Given the description of an element on the screen output the (x, y) to click on. 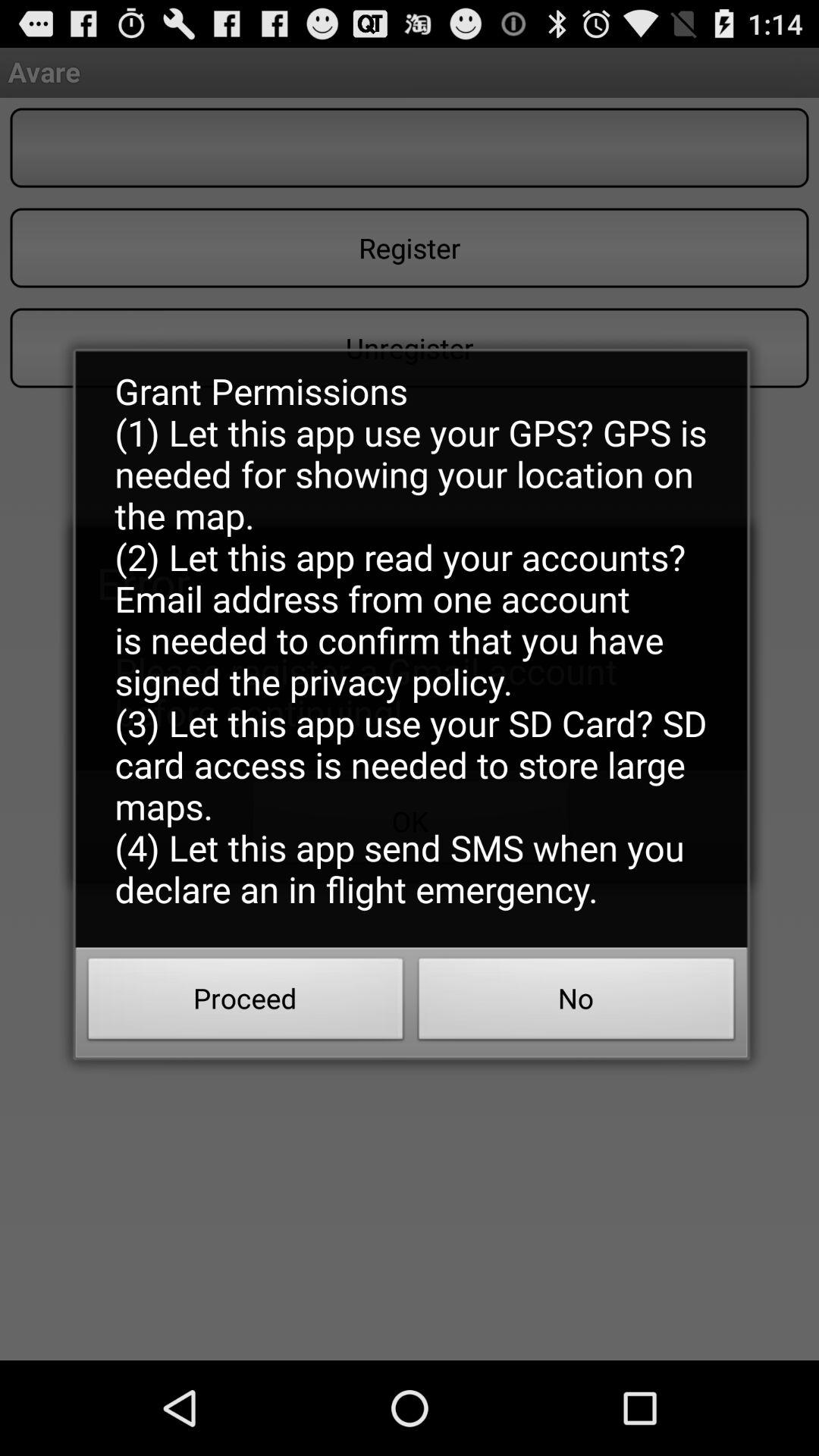
open item below the grant permissions 1 (576, 1003)
